Given the description of an element on the screen output the (x, y) to click on. 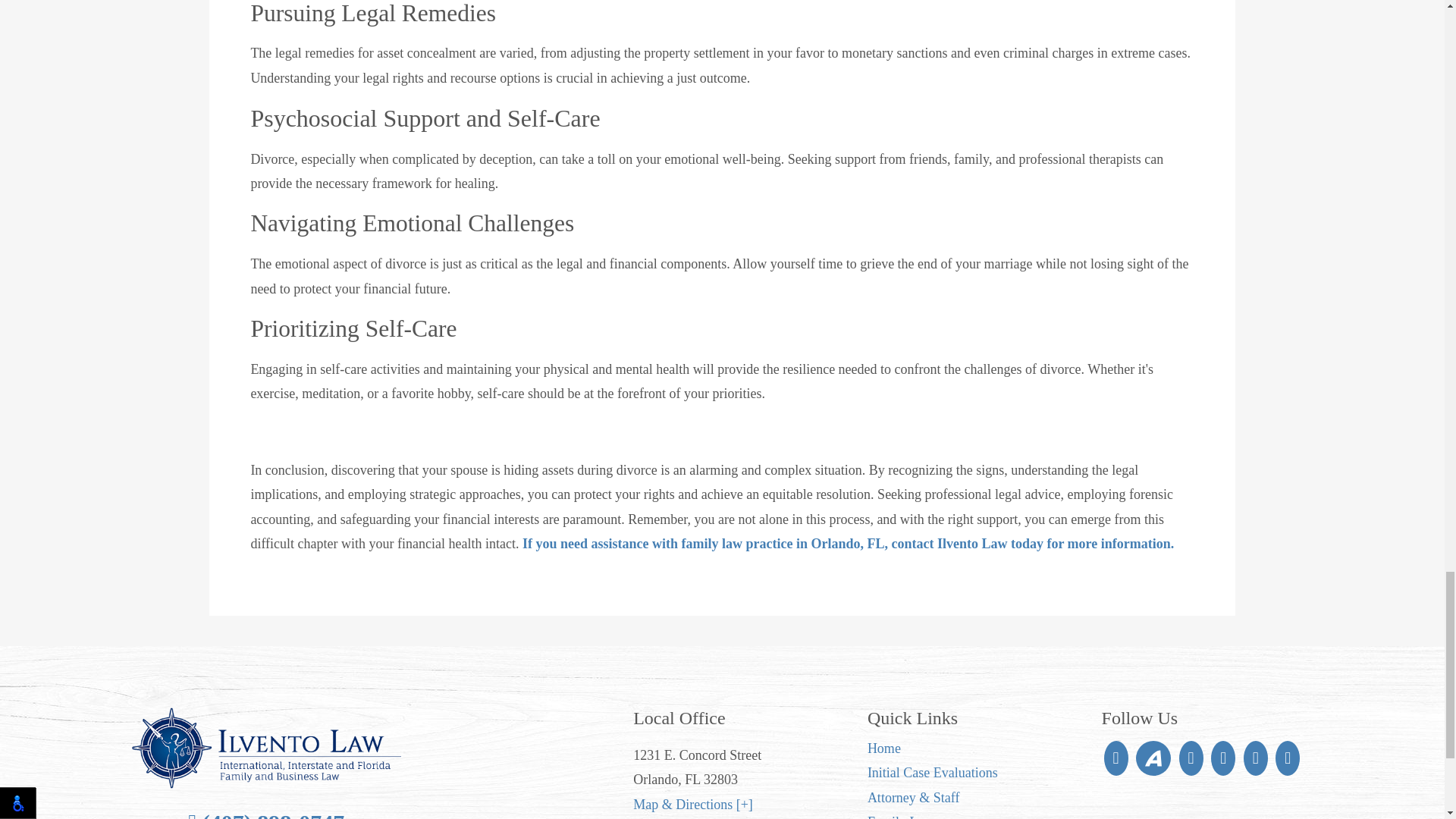
Ilvento Law, P.A., Orlando Divorce Attorney (266, 747)
Home (884, 748)
Family Law (900, 816)
Initial Case Evaluations (932, 772)
